Given the description of an element on the screen output the (x, y) to click on. 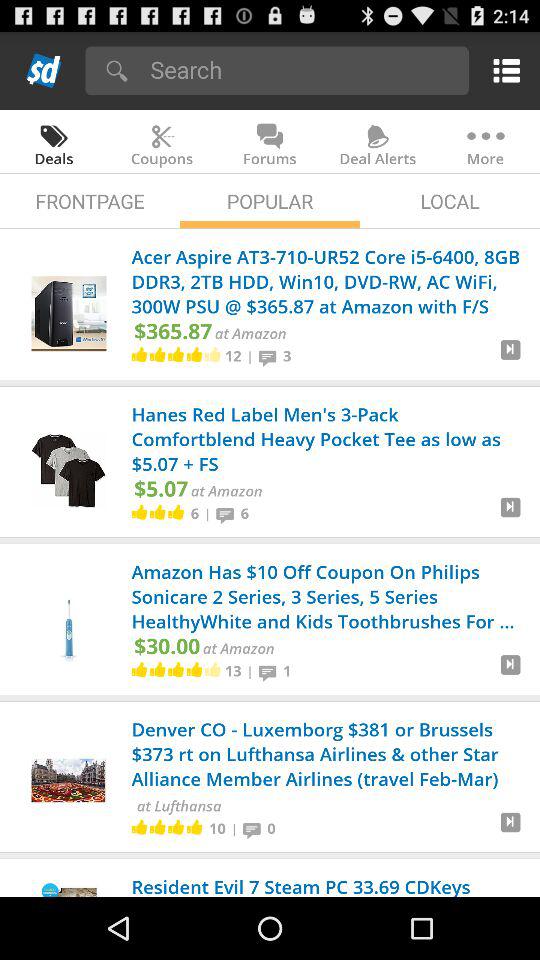
go to slickdeals main website (44, 70)
